Given the description of an element on the screen output the (x, y) to click on. 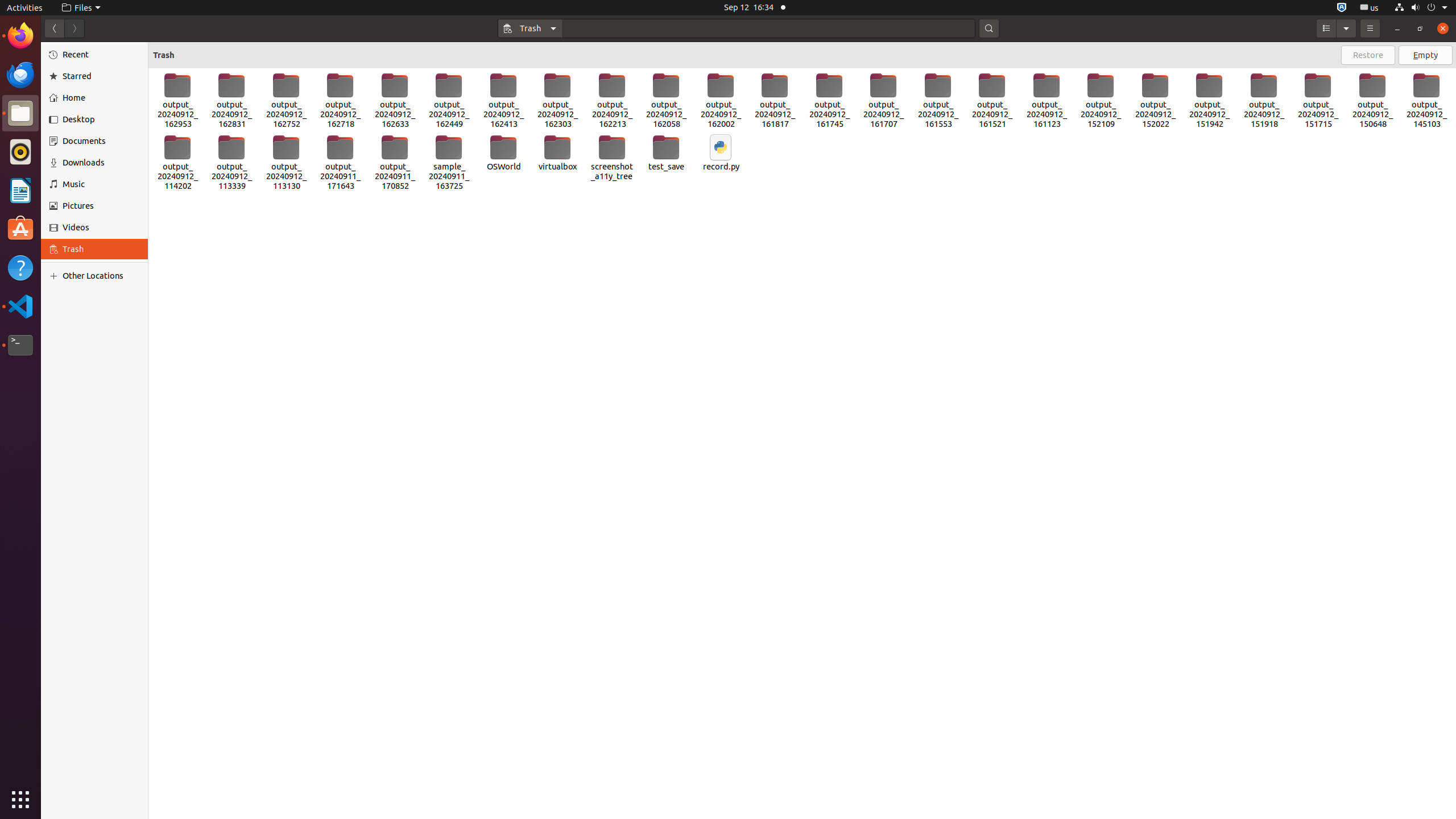
Home Element type: label (100, 97)
output_20240912_152109 Element type: canvas (1100, 100)
Downloads Element type: label (100, 162)
Other Locations Element type: label (100, 275)
